Given the description of an element on the screen output the (x, y) to click on. 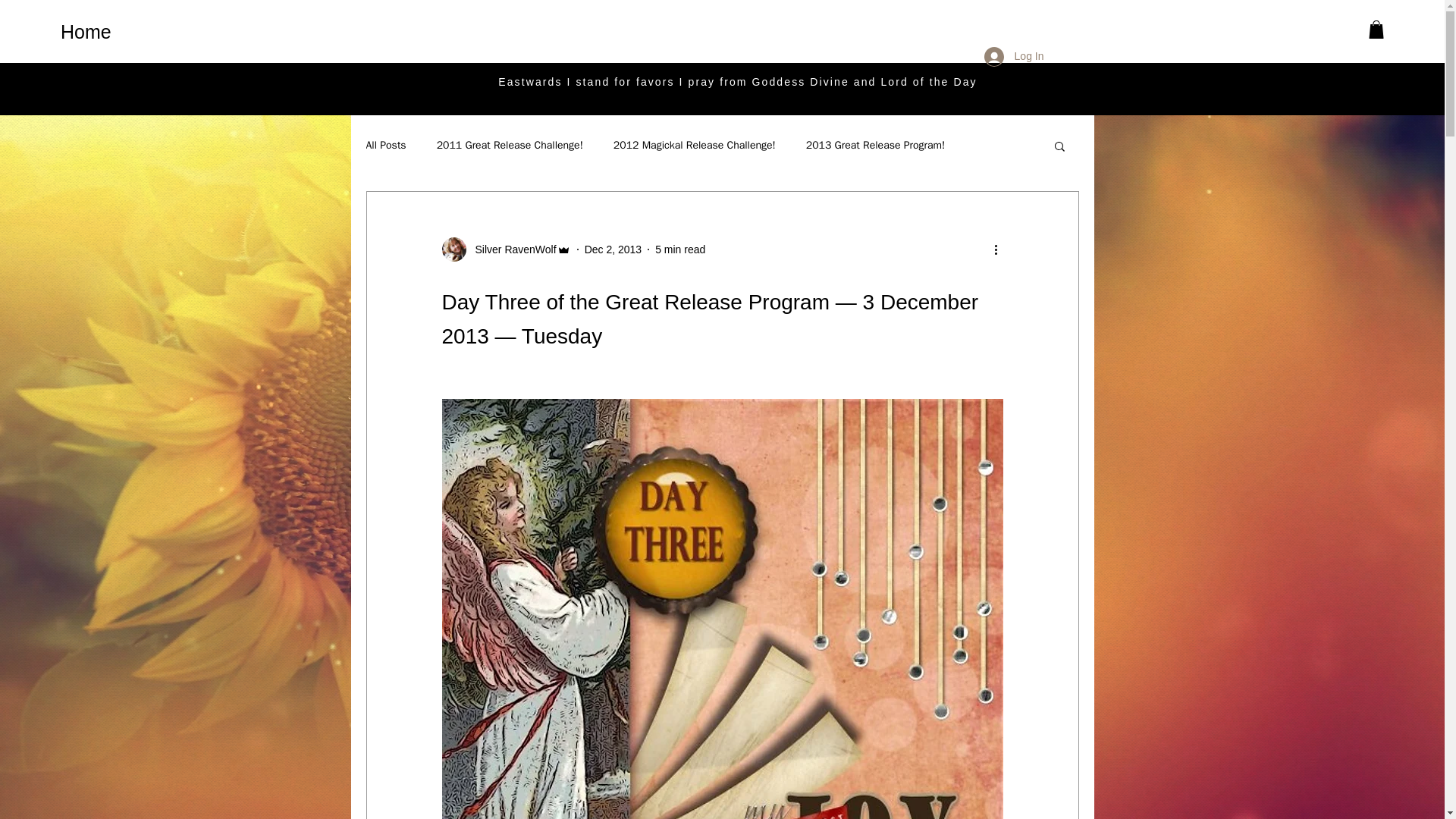
Home (118, 31)
Dec 2, 2013 (613, 248)
2012 Magickal Release Challenge! (694, 145)
Silver RavenWolf (505, 249)
2013 Great Release Program! (875, 145)
Log In (1014, 56)
Silver RavenWolf (510, 248)
All Posts (385, 145)
5 min read (679, 248)
2011 Great Release Challenge! (509, 145)
